Given the description of an element on the screen output the (x, y) to click on. 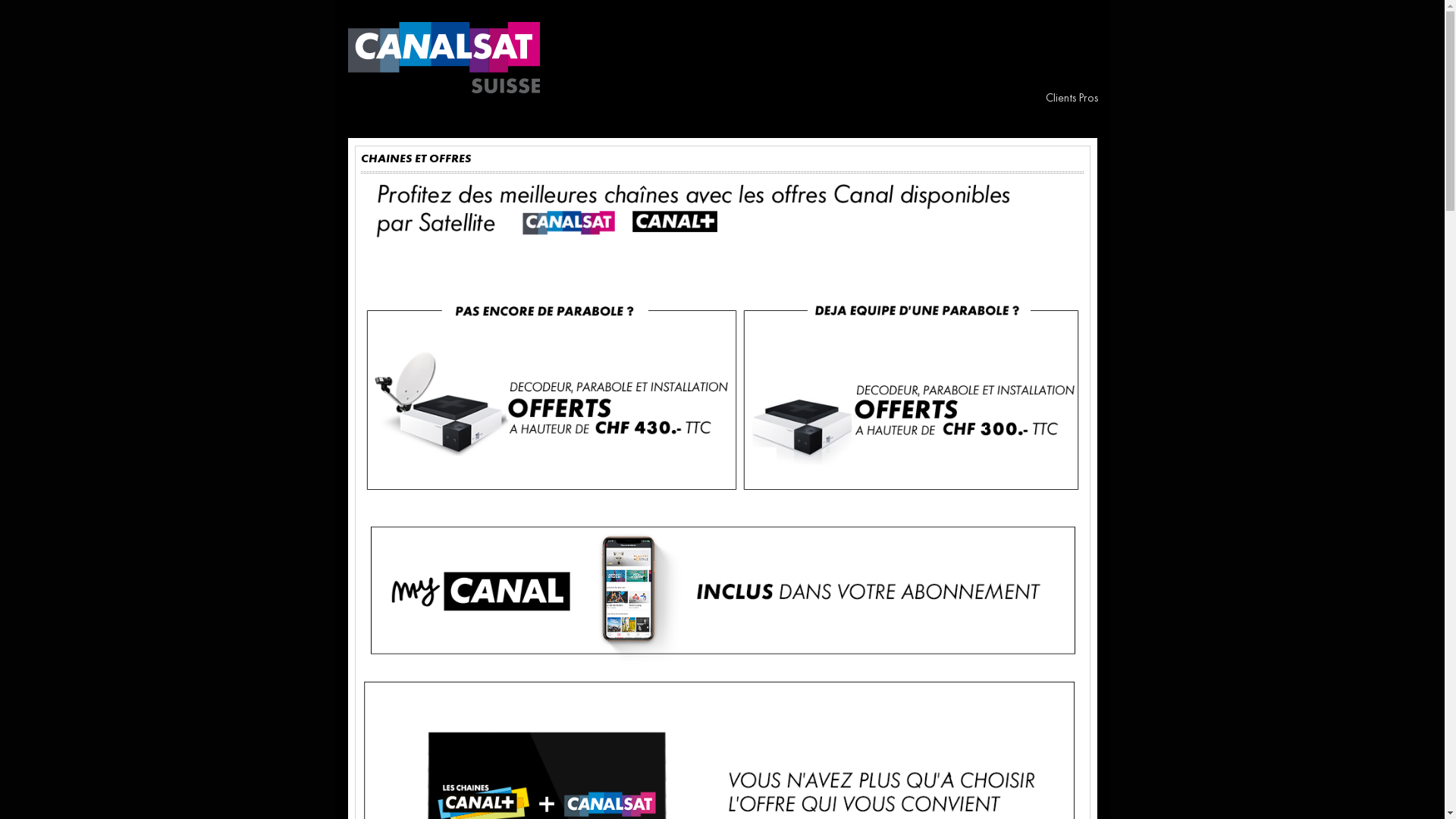
Canalsat Suisse Element type: hover (443, 57)
Clients Pros Element type: text (1070, 98)
